Given the description of an element on the screen output the (x, y) to click on. 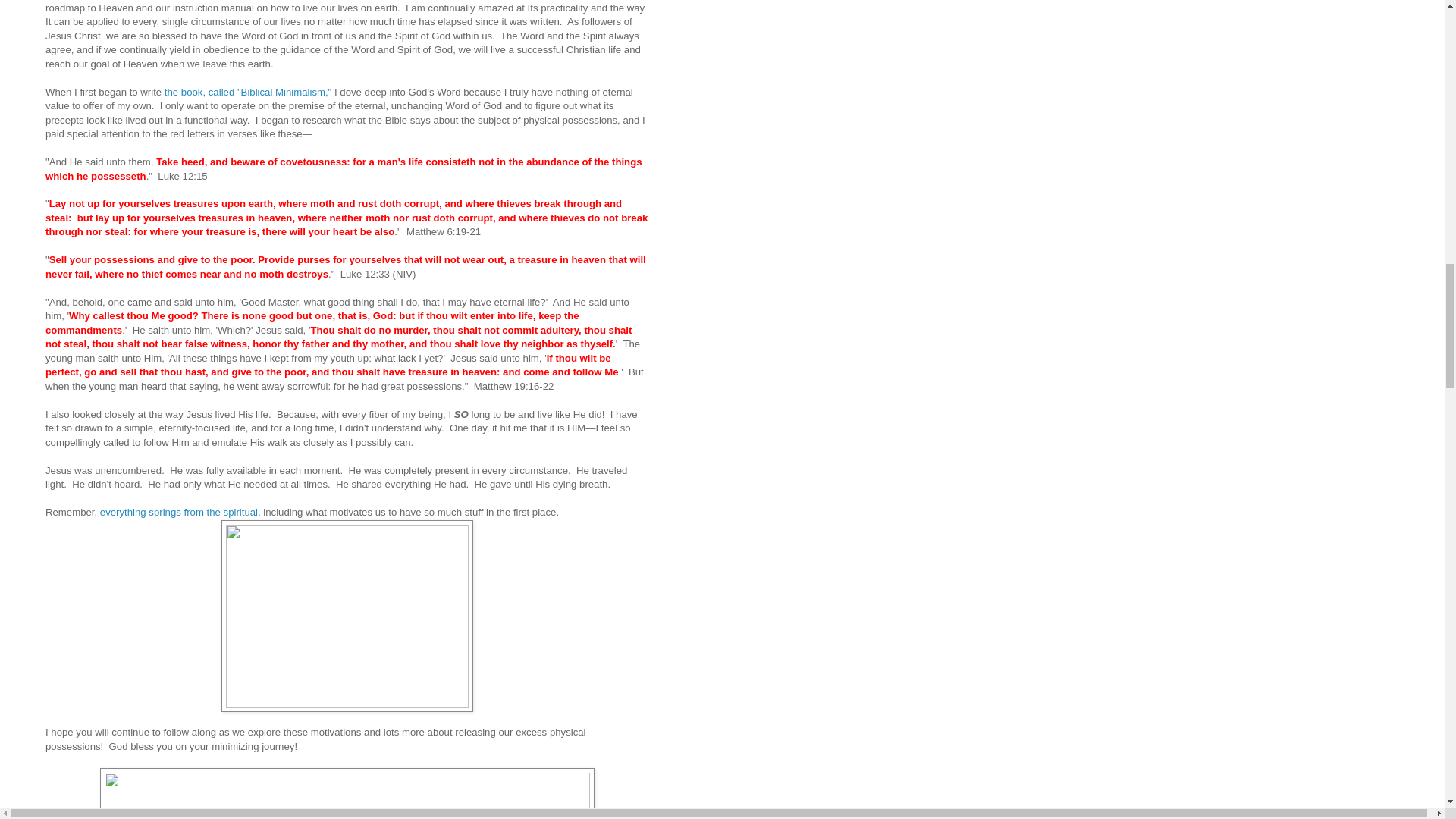
everything springs from the spiritual (178, 511)
the book, called "Biblical Minimalism," (247, 91)
